Given the description of an element on the screen output the (x, y) to click on. 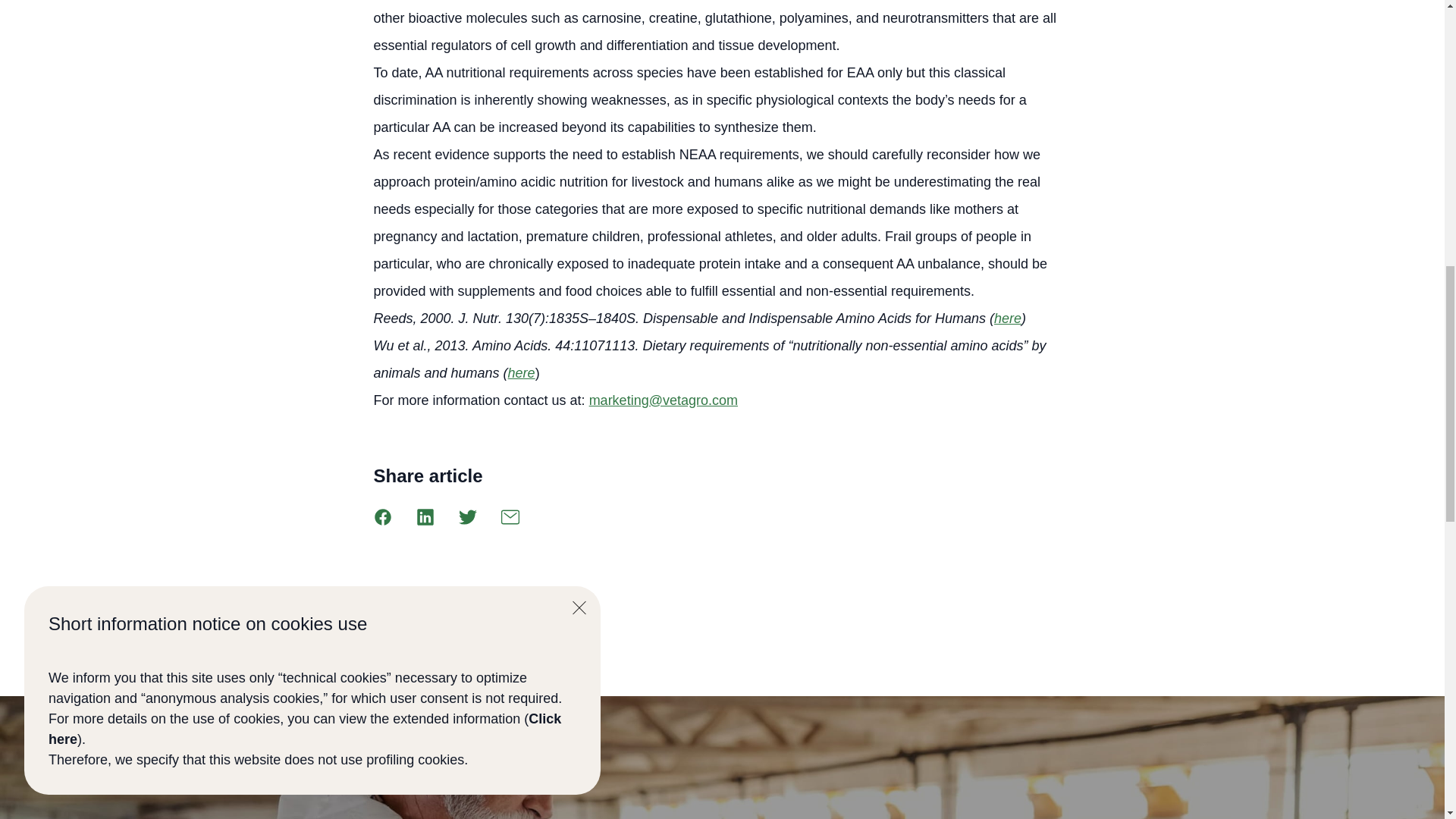
email (509, 516)
Facebook (381, 516)
twitter (467, 516)
here (1008, 318)
here (521, 372)
Linkedin (423, 516)
